Given the description of an element on the screen output the (x, y) to click on. 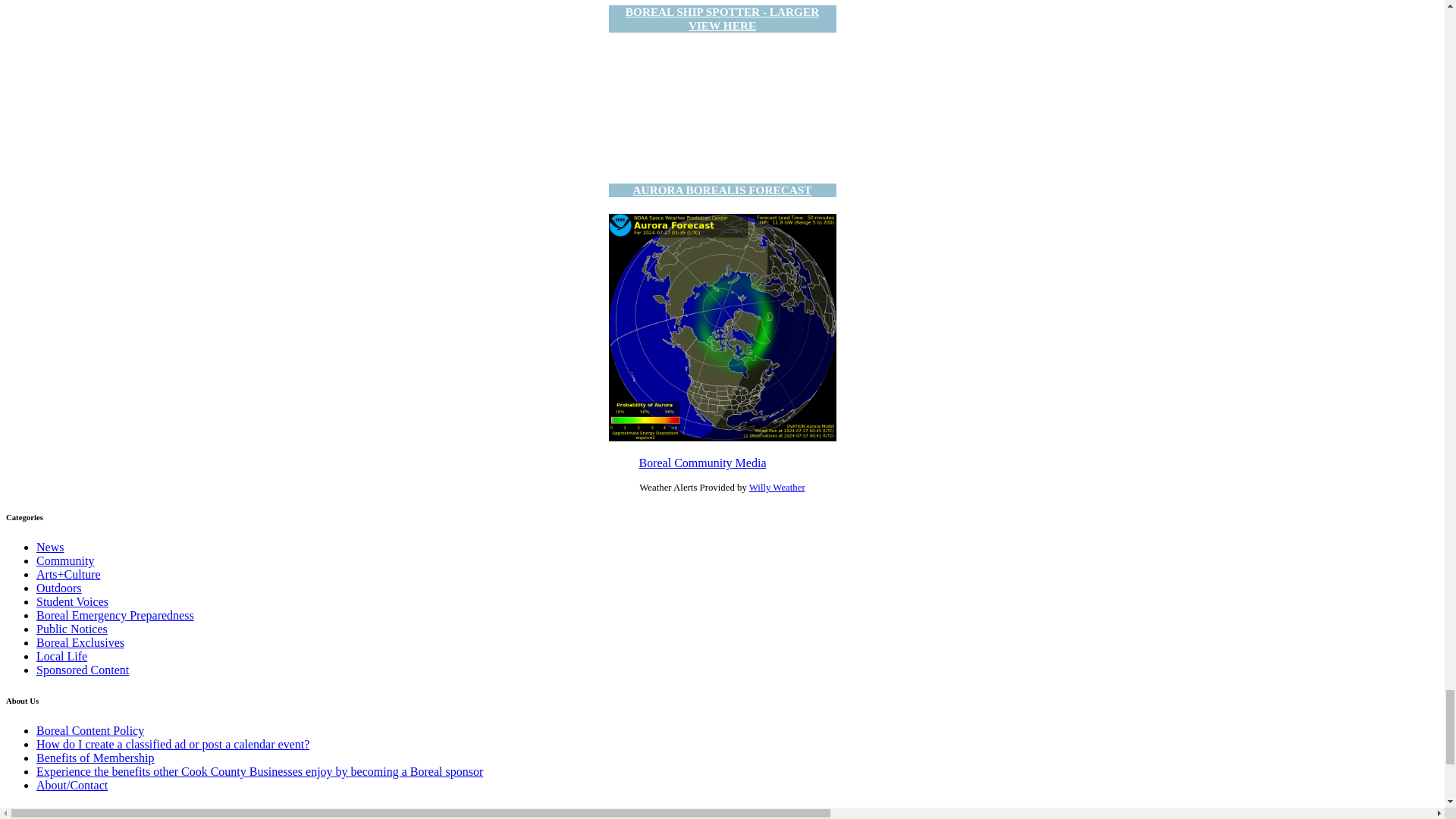
Aurora Borealis Forecast (721, 327)
fw-iframe (721, 106)
